Given the description of an element on the screen output the (x, y) to click on. 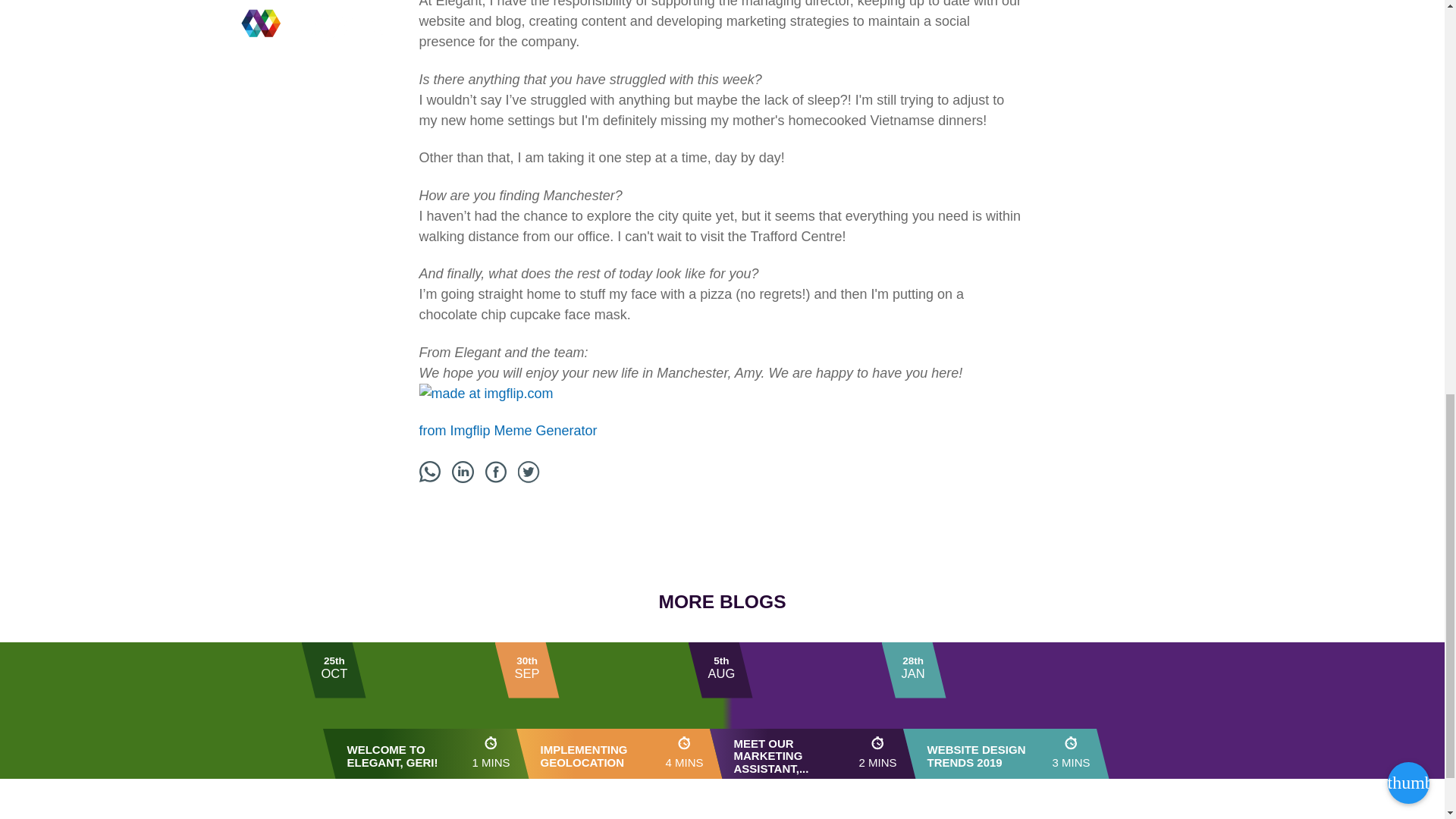
Twitter (533, 474)
Facebook (501, 474)
WhatsApp (994, 710)
LinkedIn (435, 474)
WhatsApp (462, 472)
Twitter (415, 710)
made at imgflip.com (429, 471)
from Imgflip Meme Generator (801, 710)
LinkedIn (528, 473)
